Given the description of an element on the screen output the (x, y) to click on. 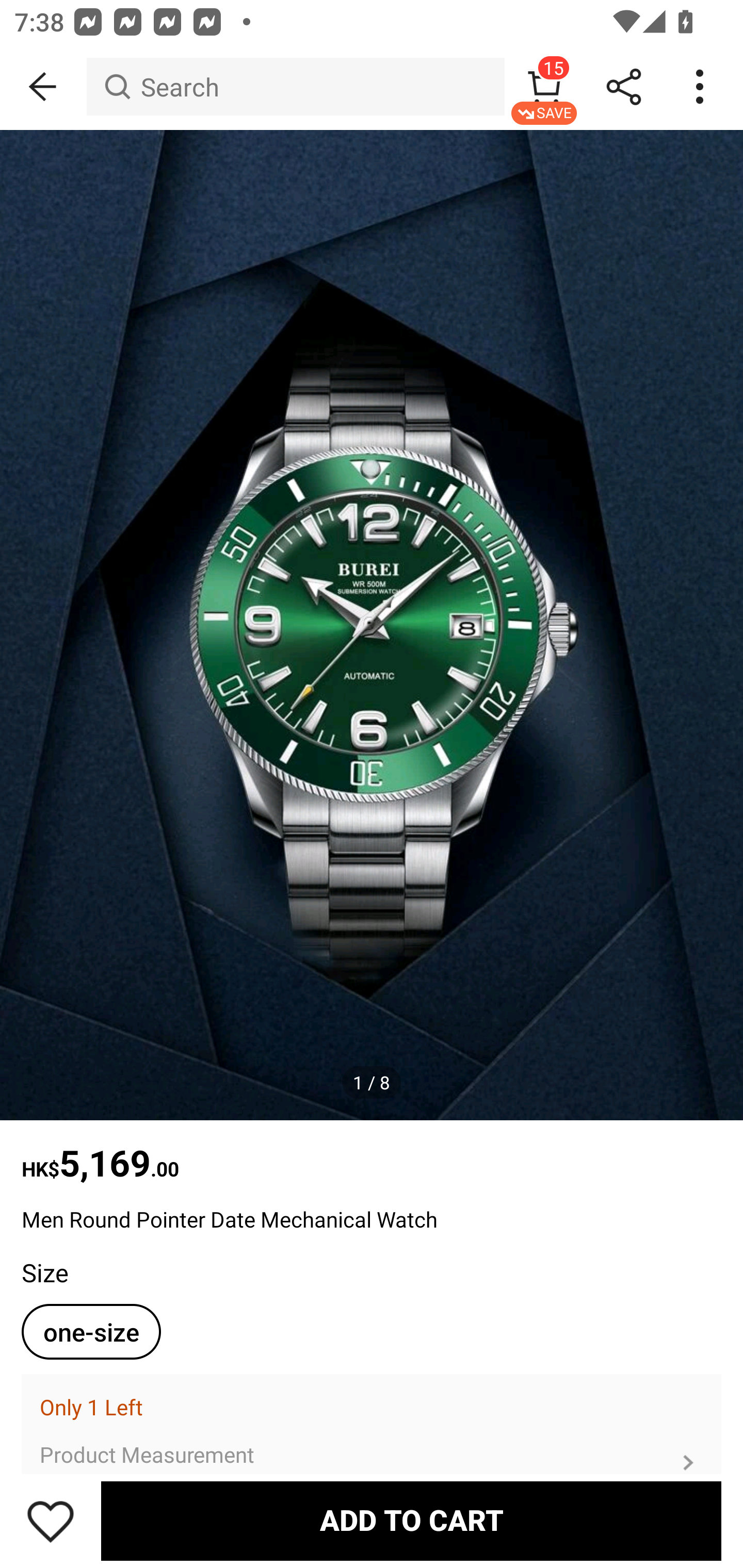
BACK (43, 86)
15 SAVE (543, 87)
Search (295, 87)
1 / 8 (371, 1082)
HK$5,169.00 (371, 1152)
Men Round Pointer Date Mechanical Watch (371, 1210)
Size (44, 1271)
one-size one-sizeselected option (91, 1331)
ADD TO CART (411, 1520)
Save (50, 1520)
